Given the description of an element on the screen output the (x, y) to click on. 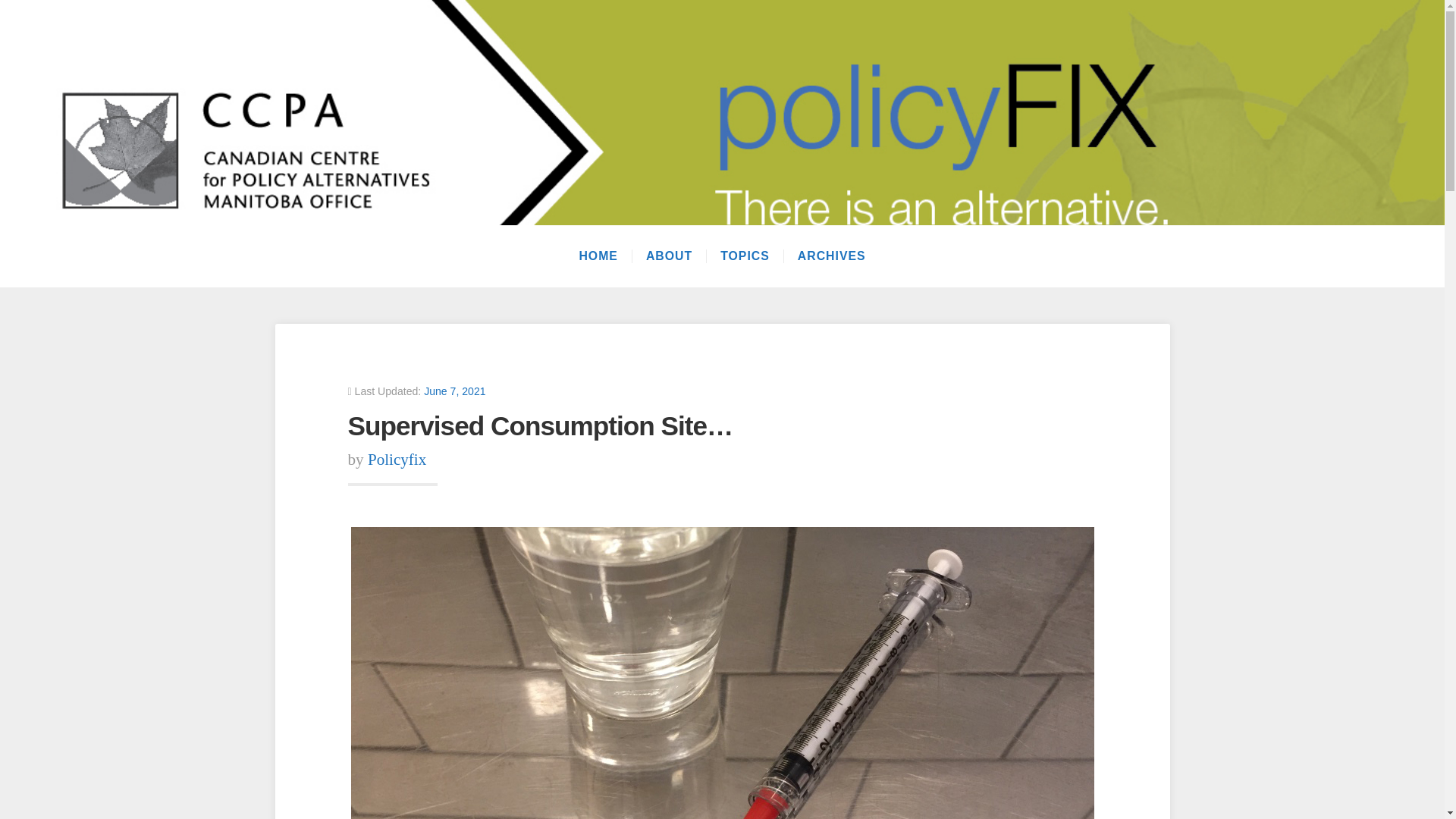
HOME (597, 255)
Posts by policyfix (397, 459)
Policyfix (397, 459)
ARCHIVES (831, 255)
June 7, 2021 (453, 390)
8:49 pm (453, 390)
TOPICS (744, 255)
ABOUT (668, 255)
